Given the description of an element on the screen output the (x, y) to click on. 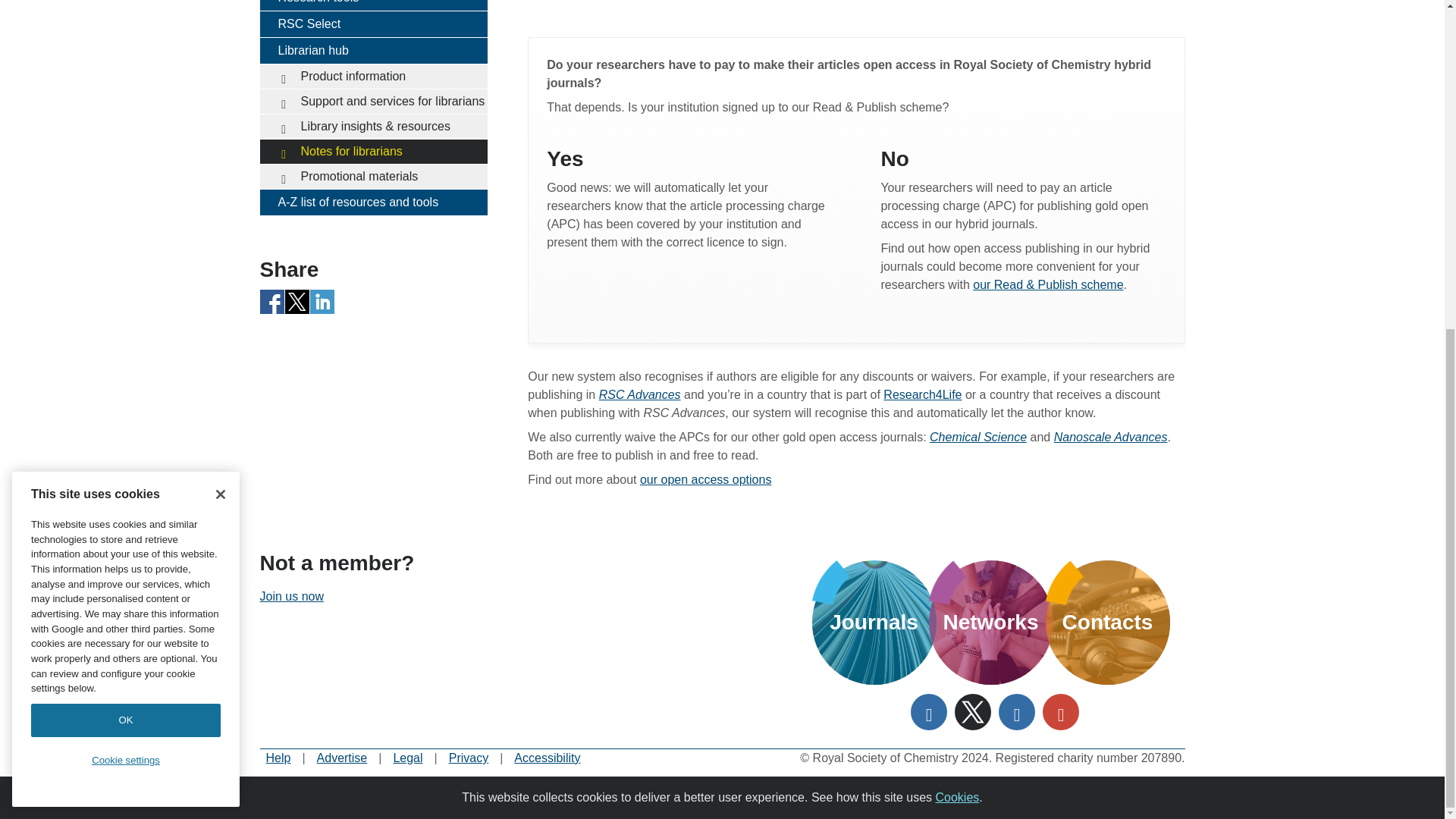
Nanoscale Advances (1110, 436)
Frequently asked questions (276, 758)
Chemical Science (978, 436)
Networks (990, 622)
our open access options (705, 479)
Contacts (1107, 622)
Accessibility statement (546, 758)
Research4Life (921, 394)
RSC Advances (639, 394)
